Given the description of an element on the screen output the (x, y) to click on. 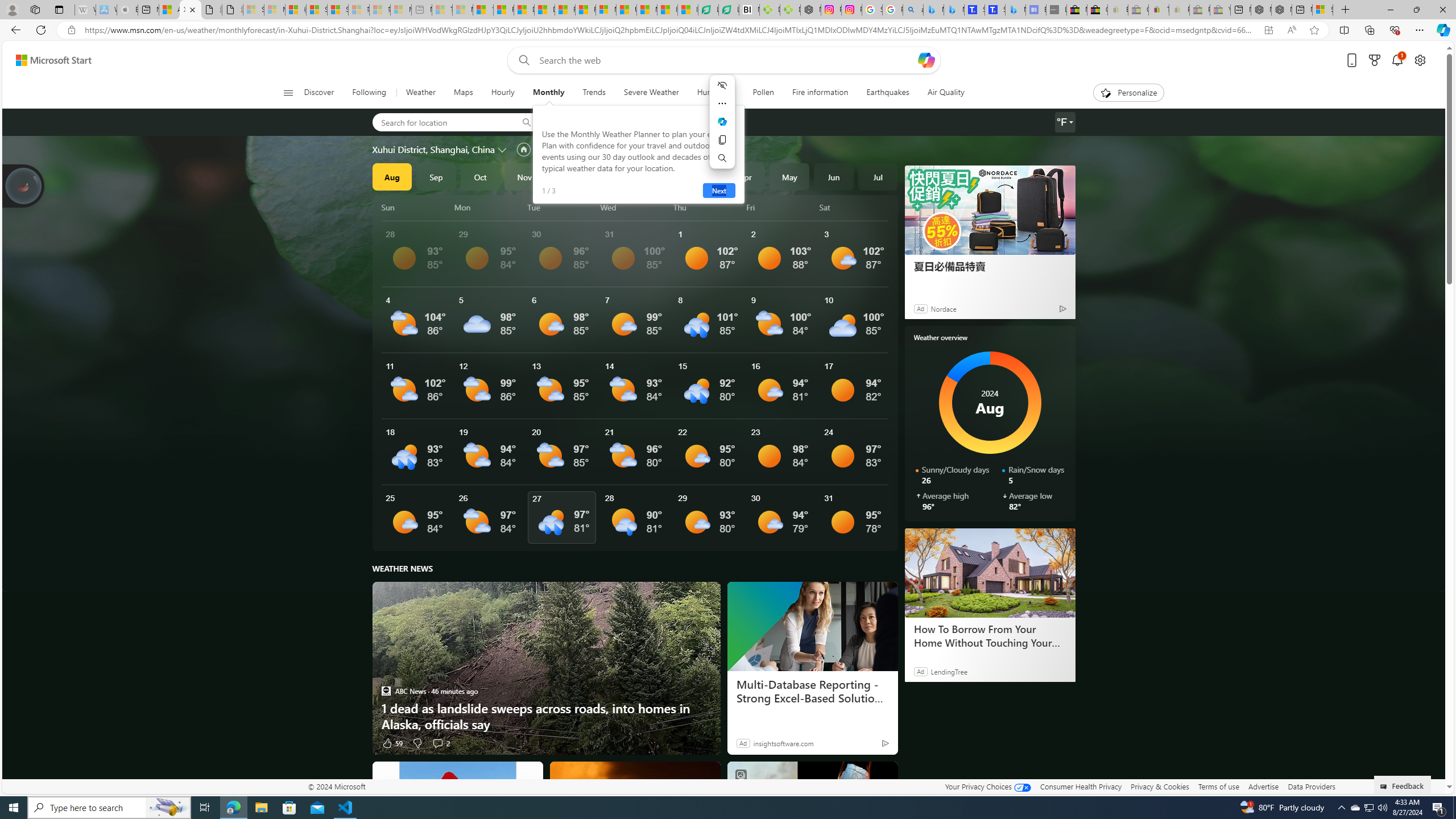
Nvidia va a poner a prueba la paciencia de los inversores (748, 9)
Dec (568, 176)
Apr (745, 176)
Hurricanes (715, 92)
Sep (435, 176)
Hourly (502, 92)
